Given the description of an element on the screen output the (x, y) to click on. 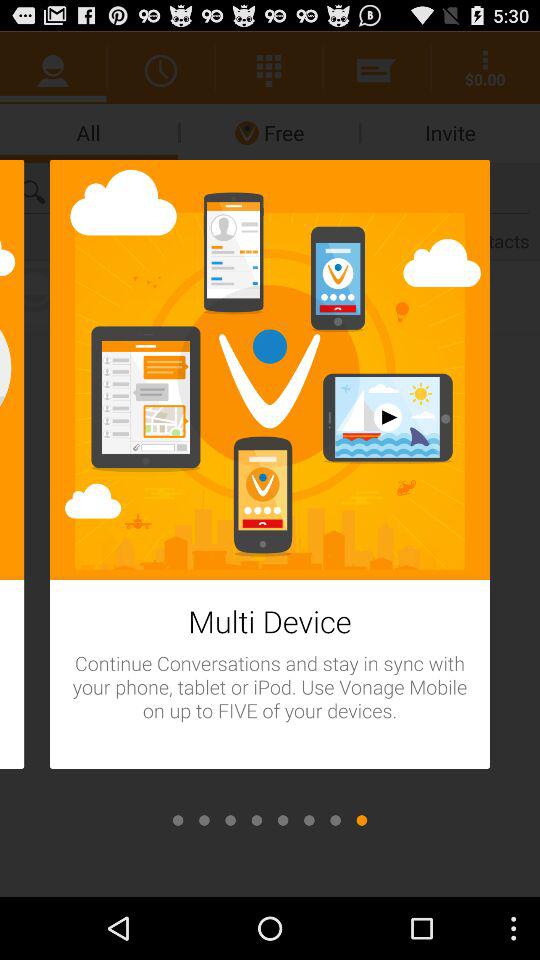
scroll to next option (230, 820)
